Given the description of an element on the screen output the (x, y) to click on. 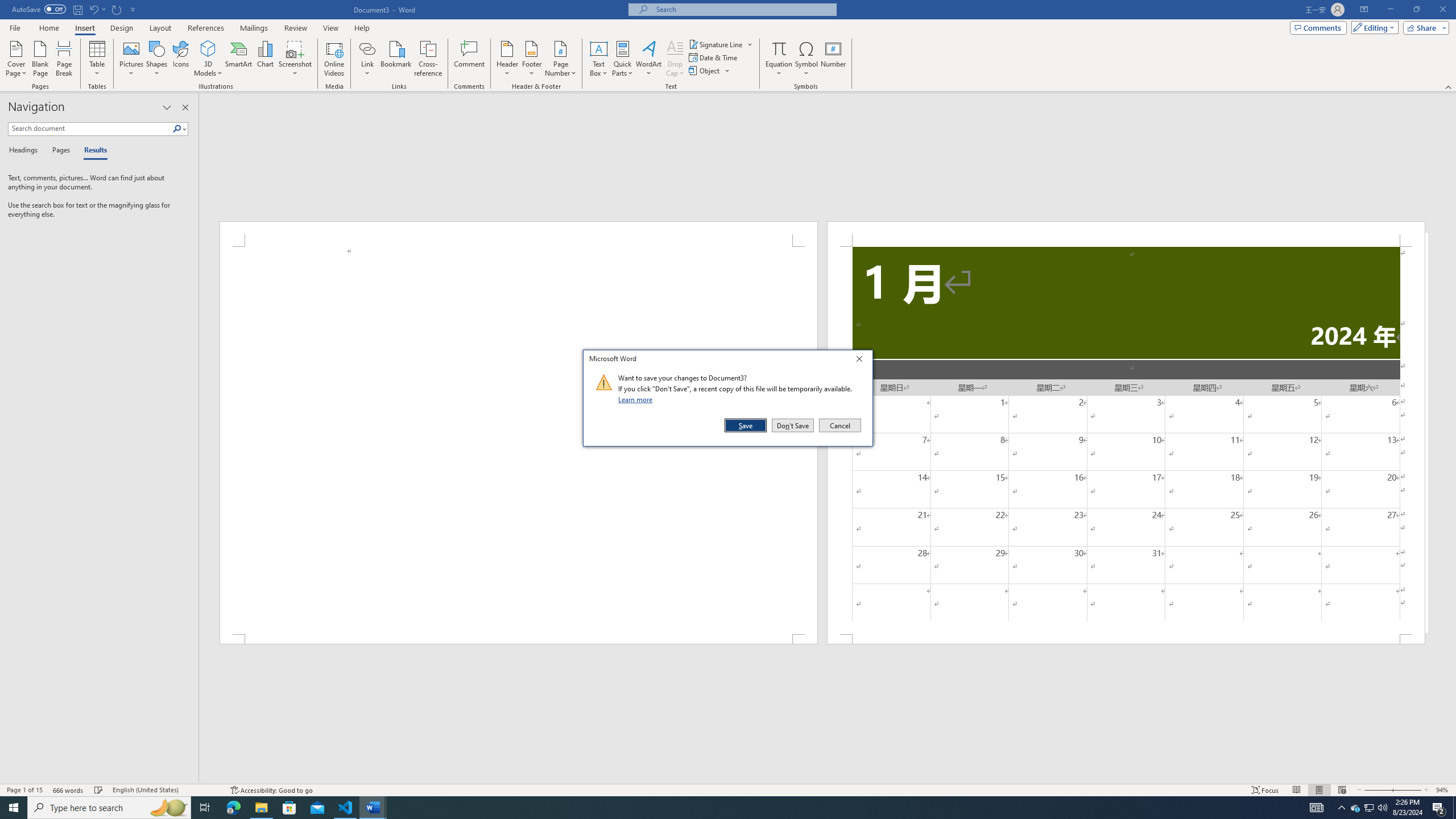
Q2790: 100% (1382, 807)
Search highlights icon opens search home window (167, 807)
Language English (United States) (165, 790)
Undo New Page (96, 9)
Cancel (839, 425)
3D Models (208, 58)
Class: NetUIScrollBar (827, 778)
Visual Studio Code - 1 running window (345, 807)
WordArt (648, 58)
Page Number (560, 58)
